Given the description of an element on the screen output the (x, y) to click on. 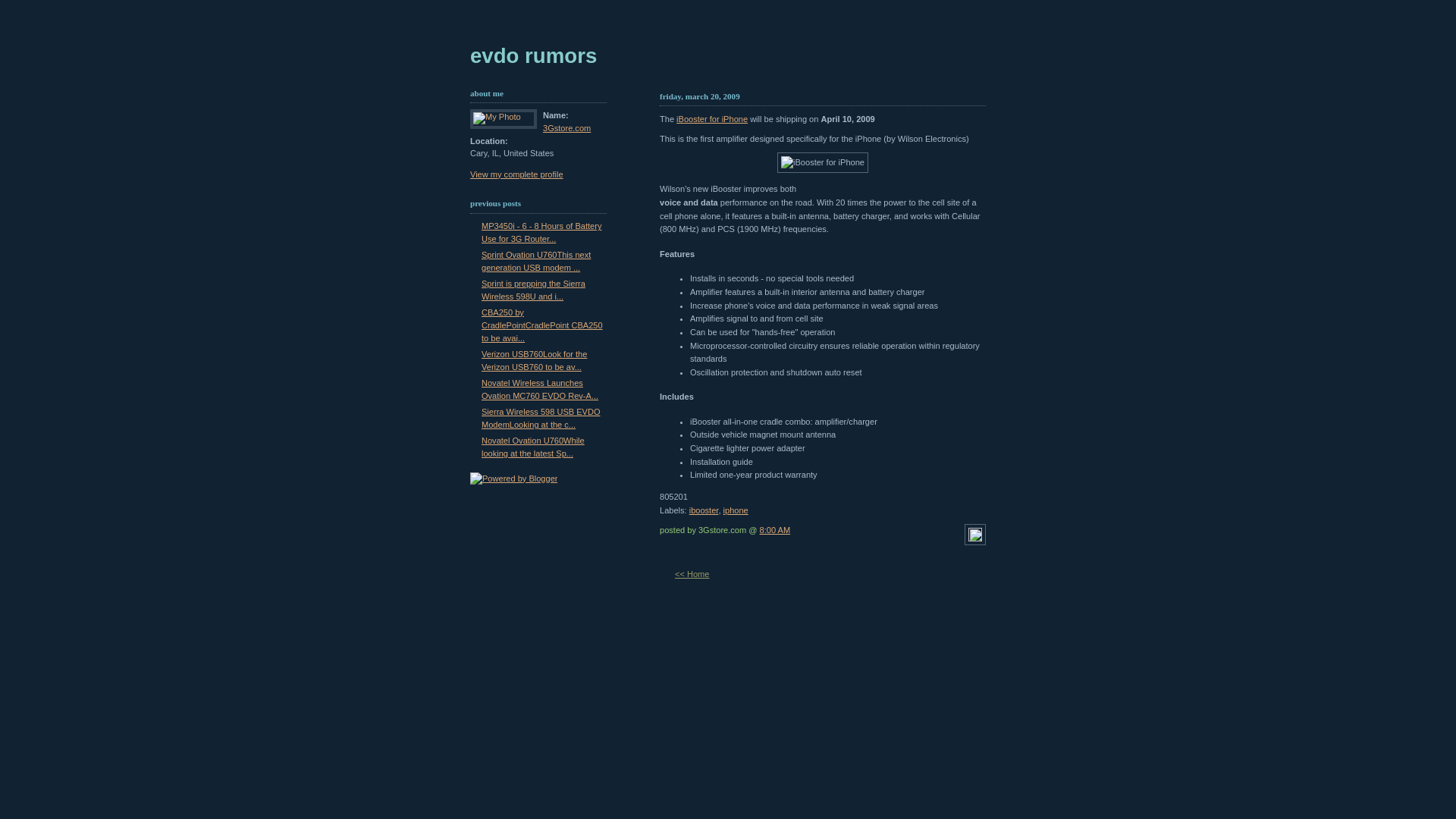
3Gstore.com Element type: text (566, 127)
ibooster Element type: text (703, 509)
Novatel Wireless Launches Ovation MC760 EVDO Rev-A... Element type: text (539, 389)
Sprint Ovation U760This next generation USB modem ... Element type: text (535, 261)
iBooster for iPhone Element type: hover (822, 162)
<< Home Element type: text (691, 573)
Verizon USB760Look for the Verizon USB760 to be av... Element type: text (533, 360)
Edit Post Element type: hover (974, 537)
View my complete profile Element type: text (516, 173)
iphone Element type: text (735, 509)
CBA250 by CradlePointCradlePoint CBA250 to be avai... Element type: text (541, 324)
iBooster for iPhone Element type: text (711, 118)
Sprint is prepping the Sierra Wireless 598U and i... Element type: text (533, 290)
Sierra Wireless 598 USB EVDO ModemLooking at the c... Element type: text (540, 418)
evdo rumors Element type: text (533, 55)
8:00 AM Element type: text (774, 529)
MP3450i - 6 - 8 Hours of Battery Use for 3G Router... Element type: text (541, 232)
Novatel Ovation U760While looking at the latest Sp... Element type: text (532, 447)
